Given the description of an element on the screen output the (x, y) to click on. 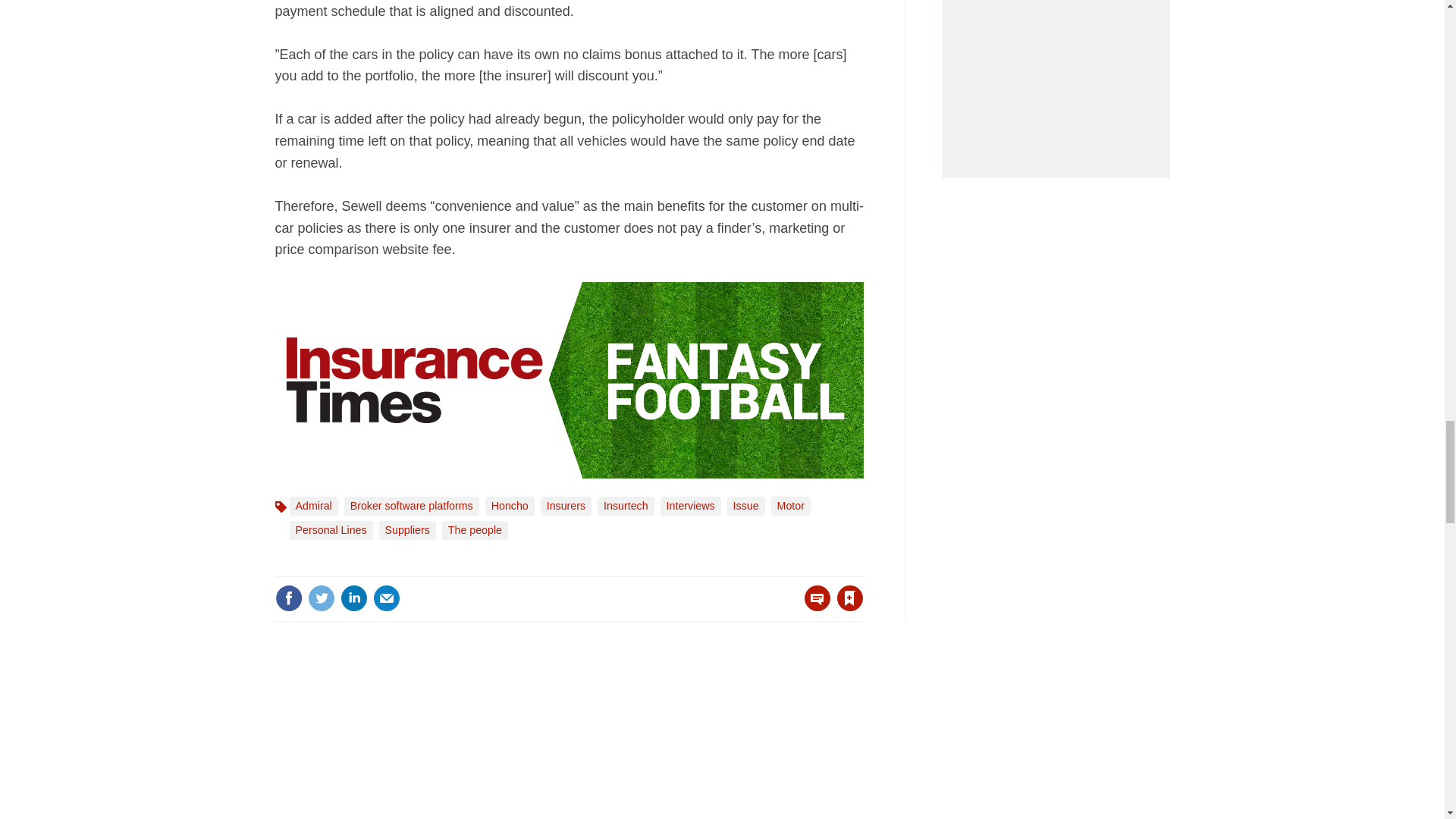
Share this on Facebook (288, 597)
Share this on Linked in (352, 597)
3rd party ad content (1055, 89)
Share this on Twitter (320, 597)
3rd party ad content (722, 738)
No comments (812, 607)
Email this article (386, 597)
